Given the description of an element on the screen output the (x, y) to click on. 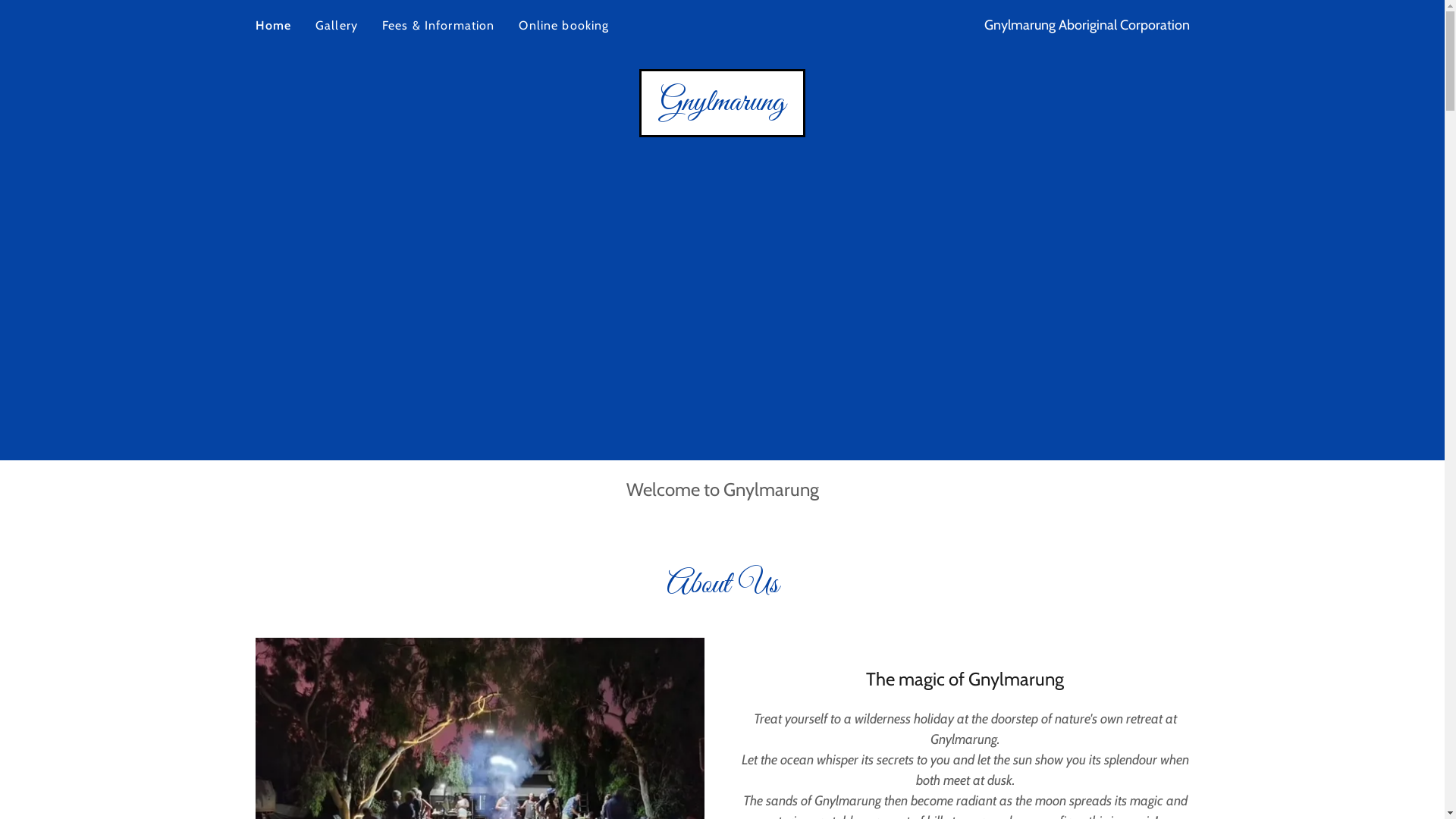
Gallery Element type: text (336, 25)
Fees & Information Element type: text (437, 25)
Online booking Element type: text (563, 25)
Gnylmarung Element type: text (721, 105)
Home Element type: text (272, 25)
